Given the description of an element on the screen output the (x, y) to click on. 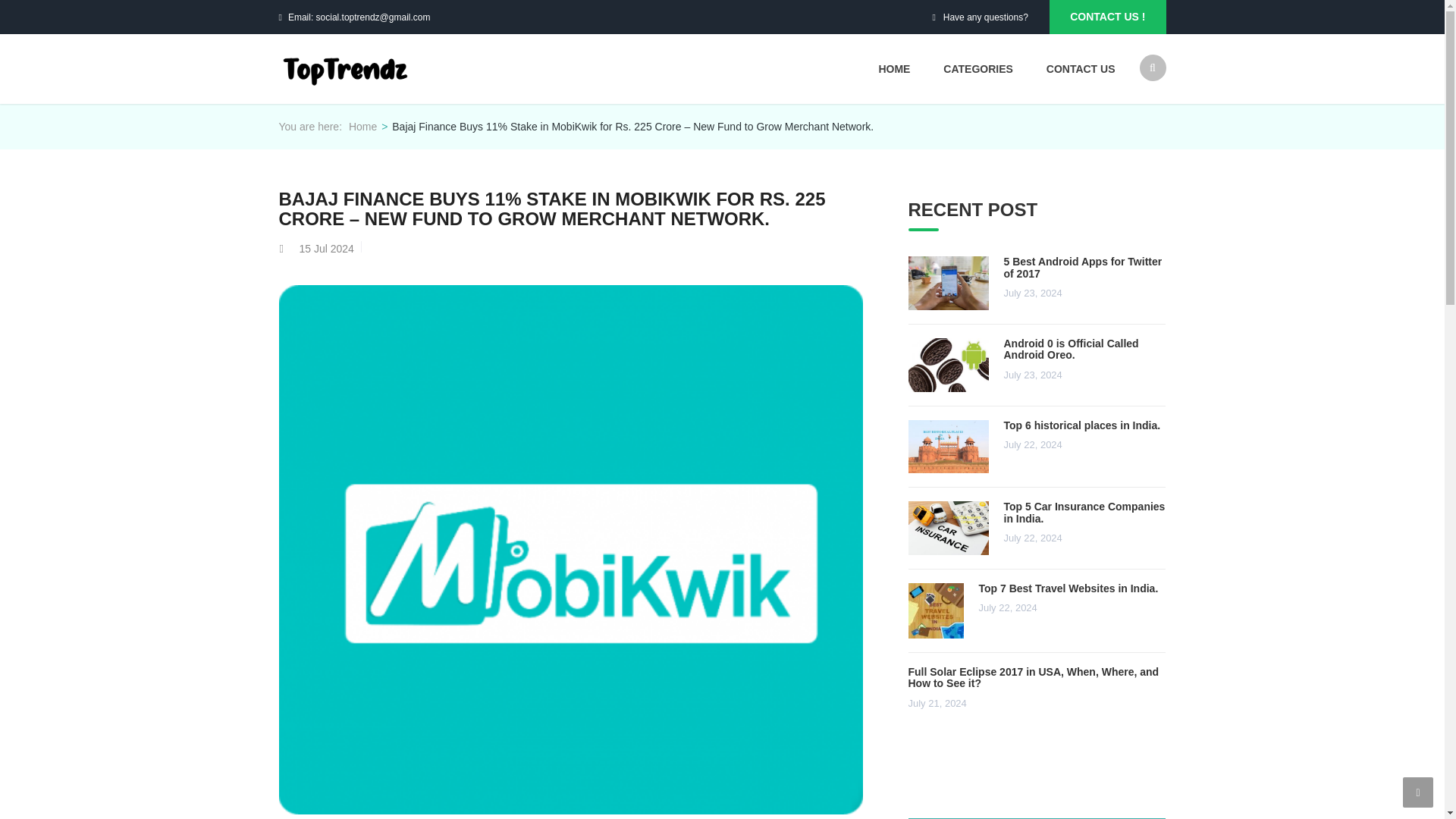
Top 5 Car Insurance Companies in India. (1085, 512)
15 Jul 2024 (325, 248)
CATEGORIES (977, 69)
Top 7 Best Travel Websites in India. (1067, 588)
5 Best Android Apps for Twitter of 2017 (1082, 267)
Top 6 historical places in India. (1082, 425)
HOME (893, 69)
Android 0 is Official Called Android Oreo. (1071, 349)
Toptrendz (363, 126)
Toptrendz (345, 67)
CONTACT US (1072, 69)
CONTACT US ! (1107, 17)
Search (1144, 126)
Home (363, 126)
